Given the description of an element on the screen output the (x, y) to click on. 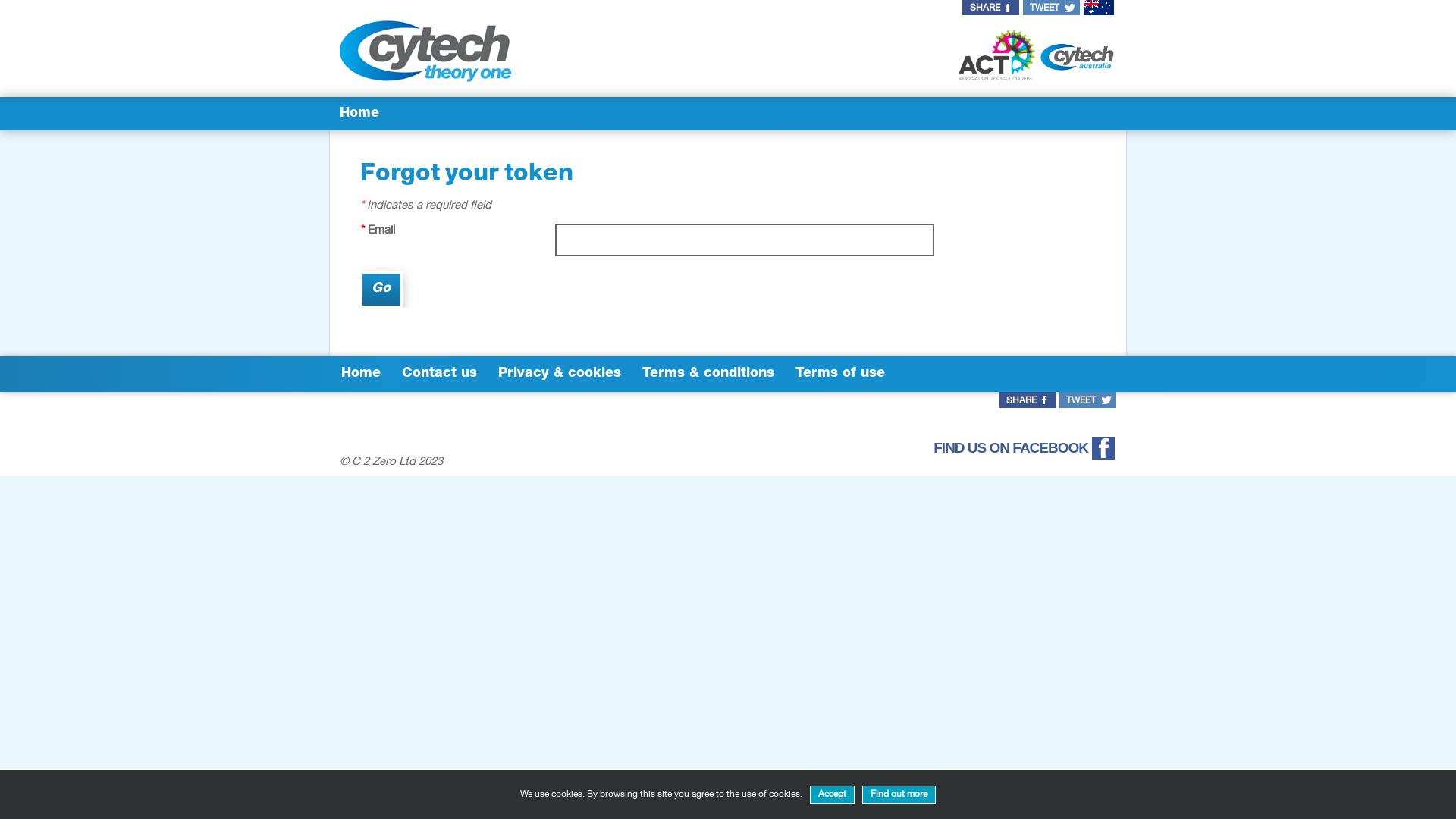
Find out more Element type: text (898, 794)
Accept Element type: text (831, 794)
SHARE Element type: text (990, 7)
SHARE Element type: text (1026, 399)
Home Element type: text (359, 113)
Privacy & cookies Element type: text (559, 373)
Terms & conditions Element type: text (708, 373)
Go Element type: text (381, 289)
TWEET Element type: text (1087, 399)
Contact us Element type: text (438, 373)
Home Element type: text (360, 373)
Terms of use Element type: text (839, 373)
TWEET Element type: text (1050, 7)
FIND US ON FACEBOOK Element type: text (1023, 447)
